Given the description of an element on the screen output the (x, y) to click on. 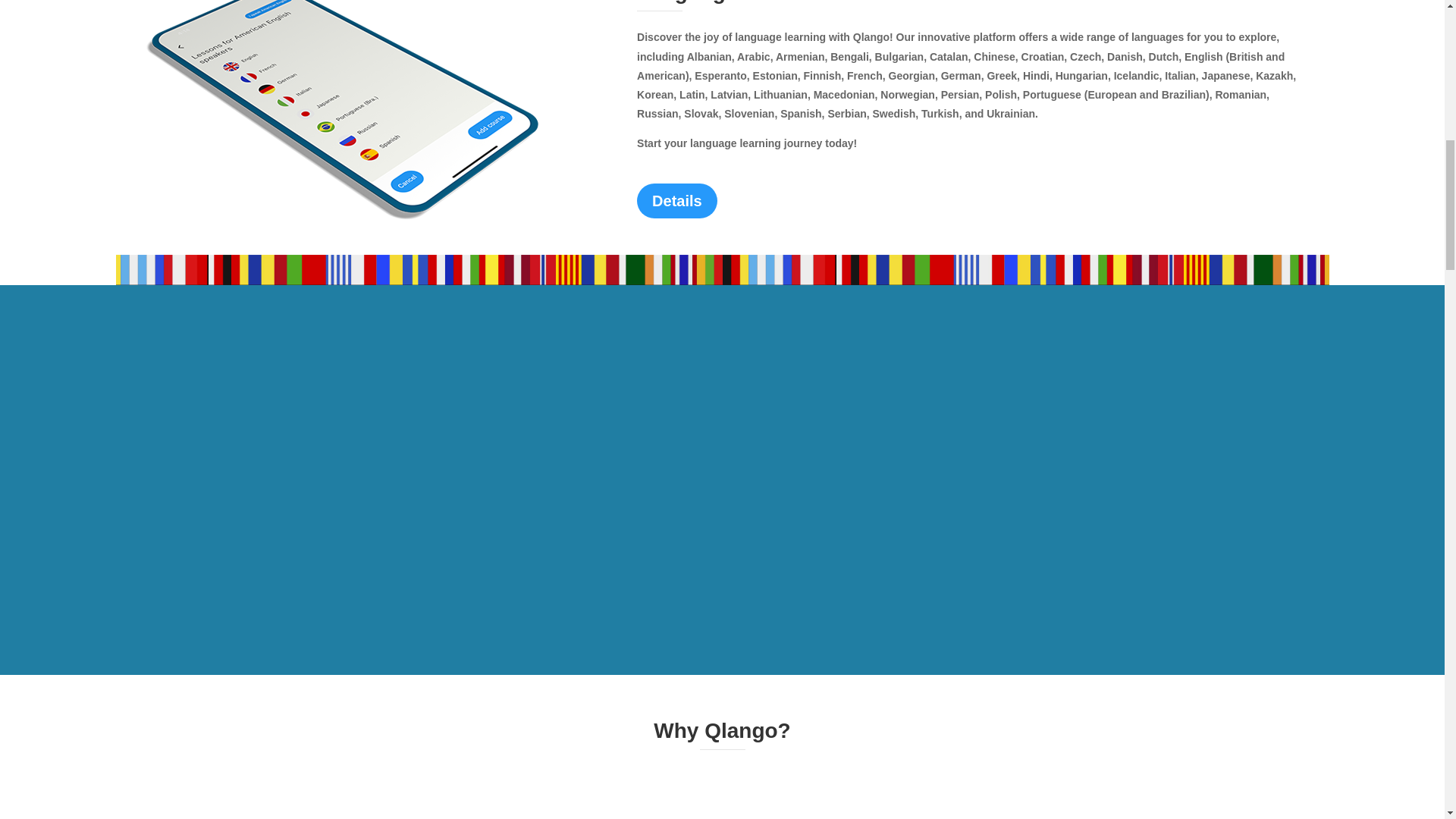
Details (677, 200)
